Given the description of an element on the screen output the (x, y) to click on. 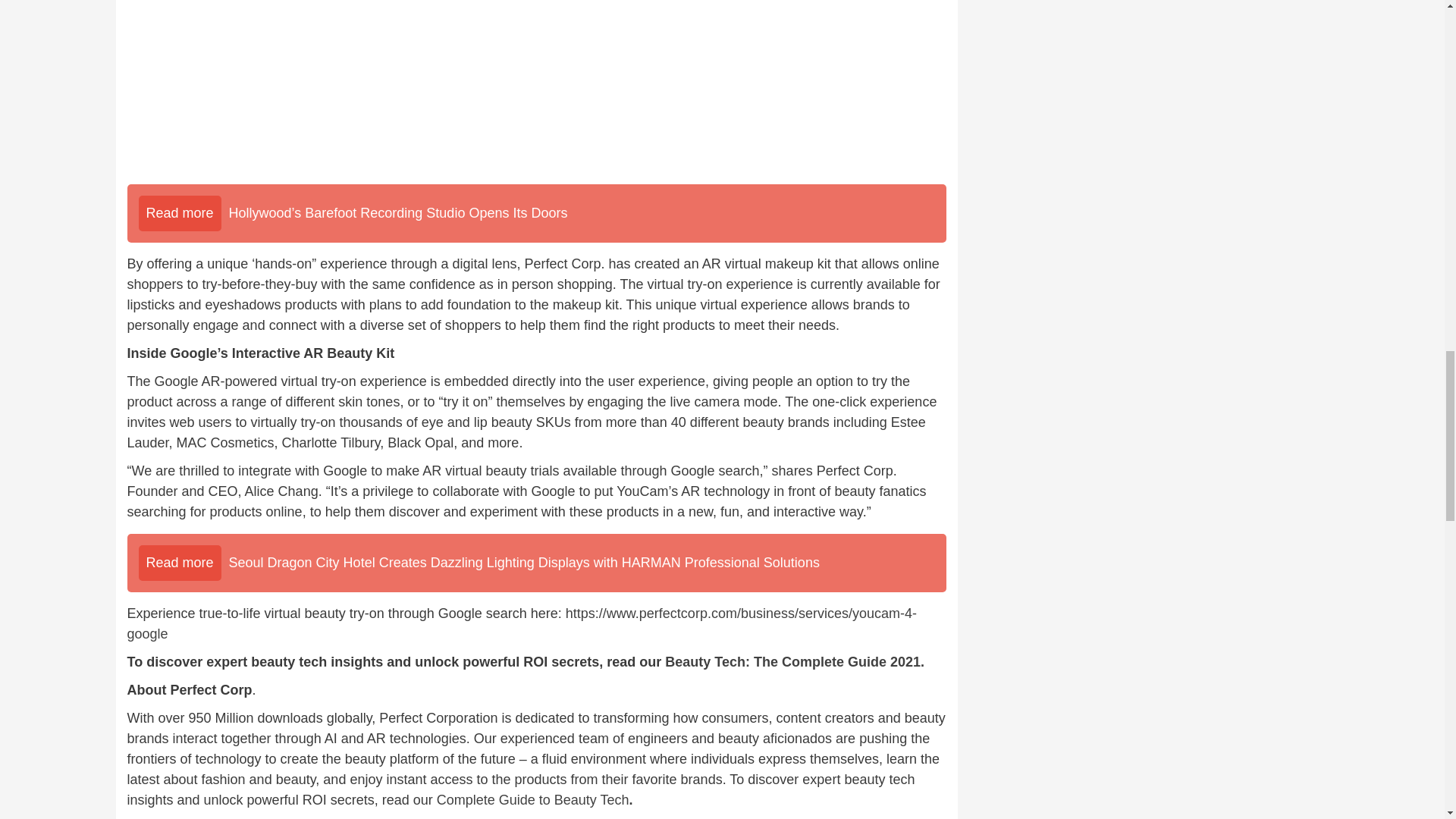
Beauty Tech: The Complete Guide 2021 (792, 661)
Complete Guide to Beauty Tech (532, 799)
